Given the description of an element on the screen output the (x, y) to click on. 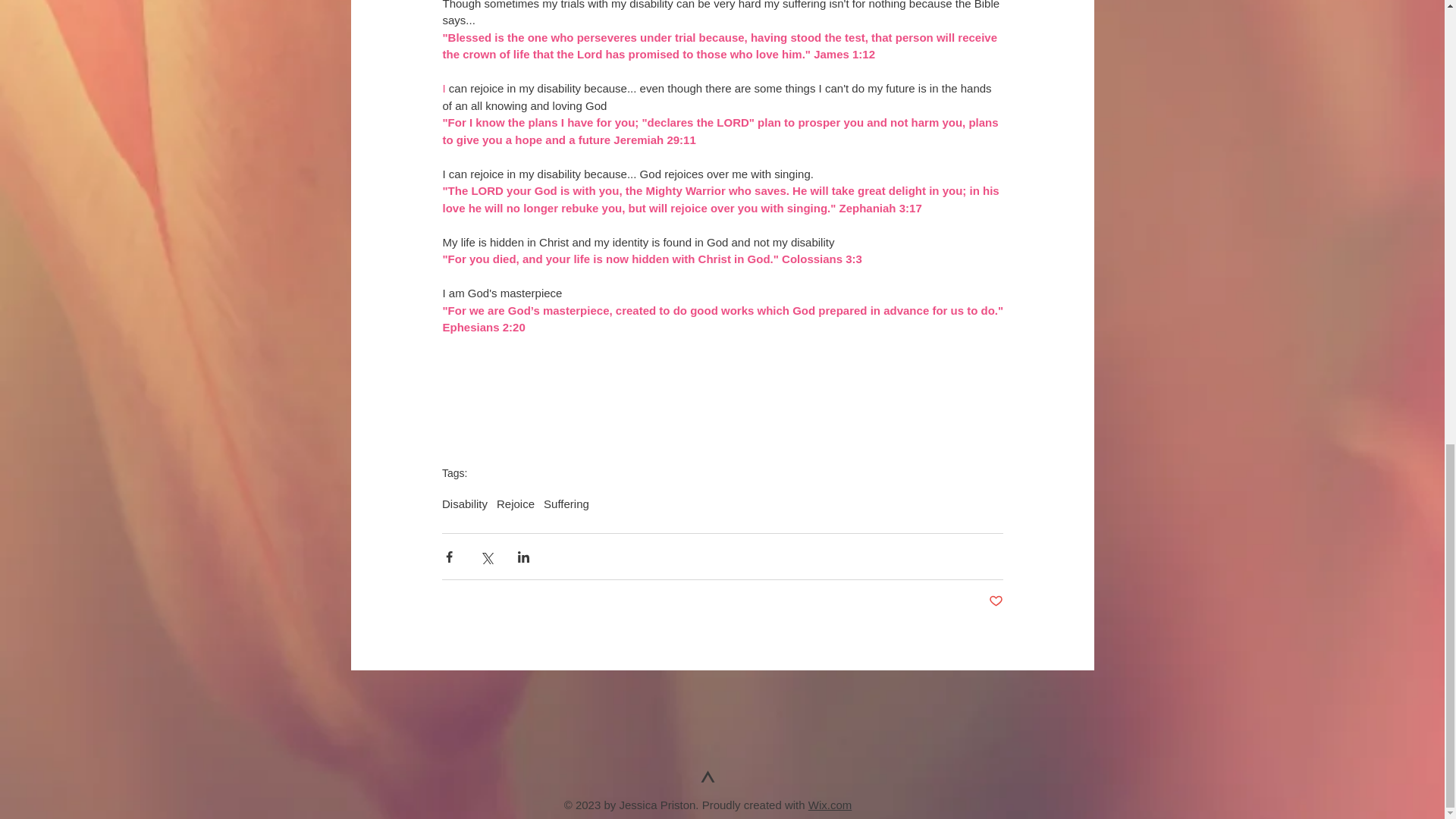
Wix.com (829, 804)
Suffering (566, 503)
Post not marked as liked (995, 601)
Rejoice (515, 503)
Disability (464, 503)
